Given the description of an element on the screen output the (x, y) to click on. 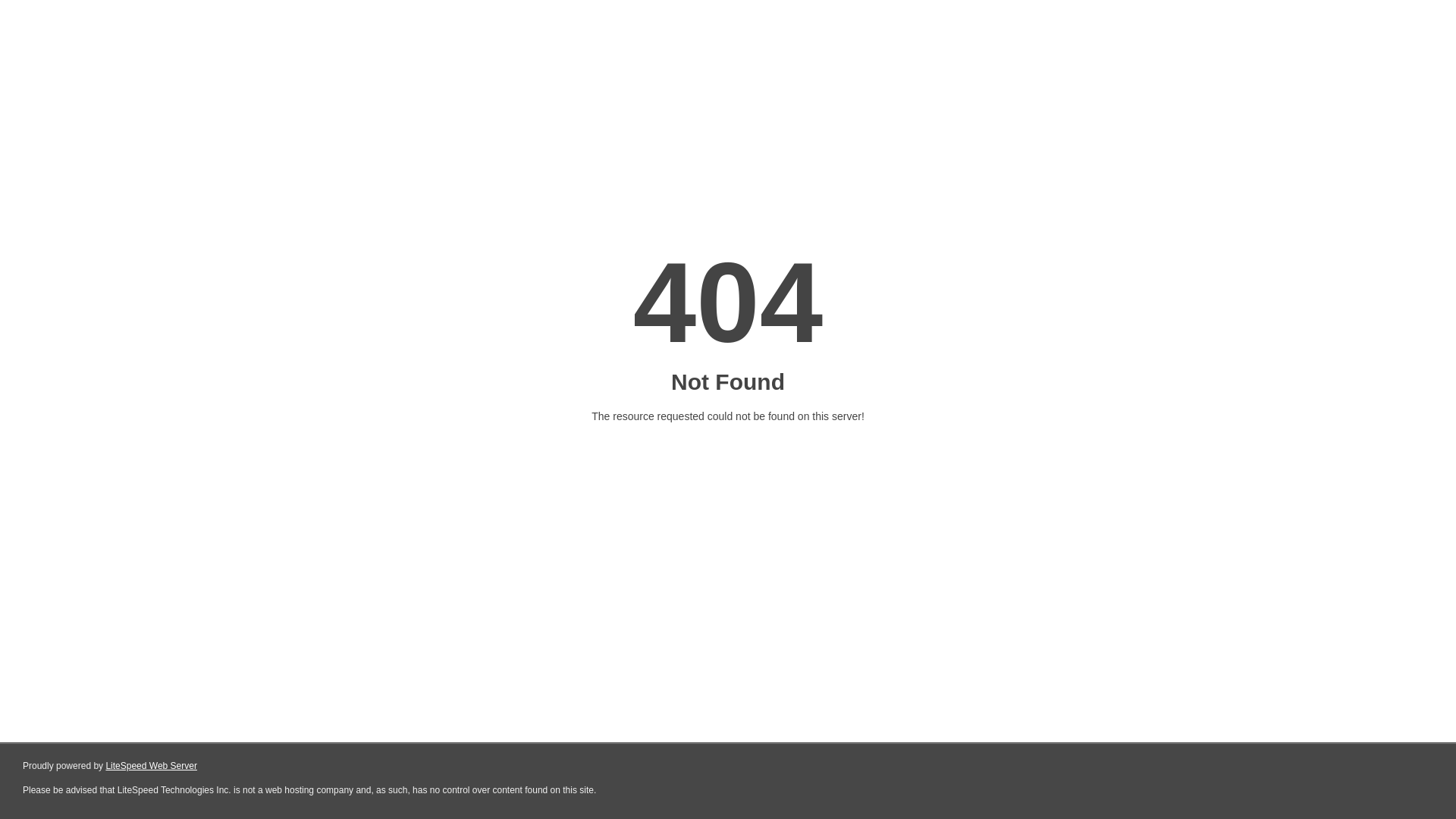
LiteSpeed Web Server Element type: text (151, 765)
